Given the description of an element on the screen output the (x, y) to click on. 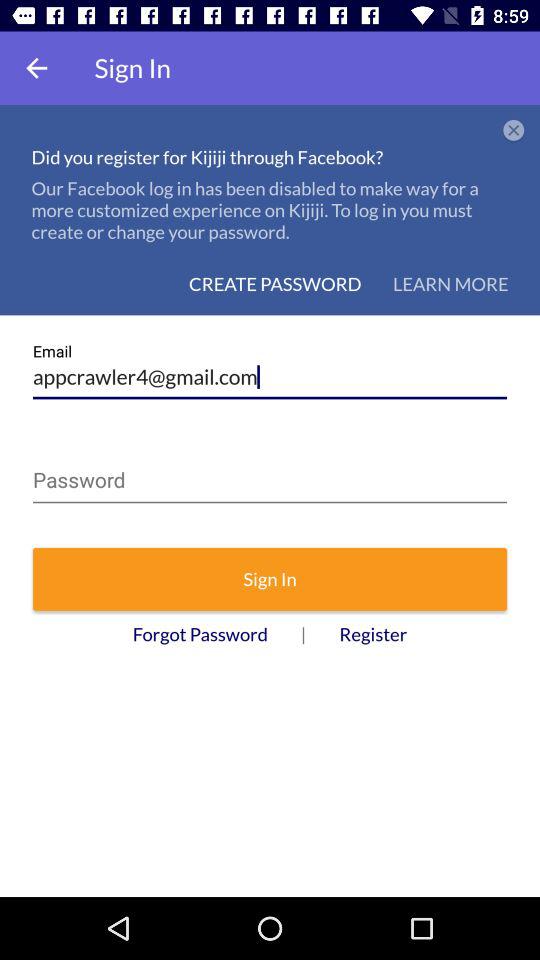
press the item to the left of the | (199, 633)
